Given the description of an element on the screen output the (x, y) to click on. 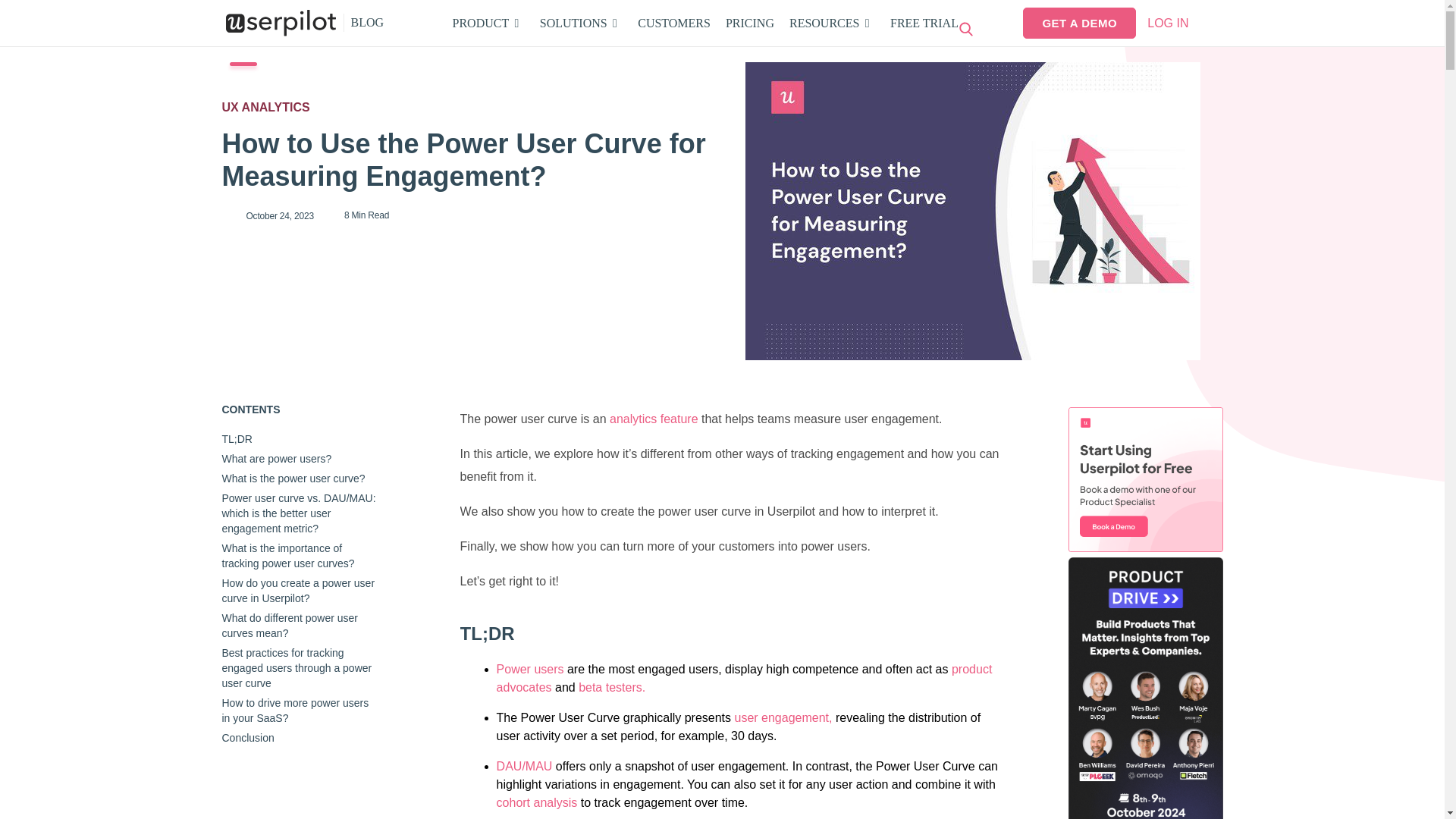
CUSTOMERS (673, 22)
BLOG (705, 22)
PRICING (364, 22)
FREE TRIAL (749, 22)
